Given the description of an element on the screen output the (x, y) to click on. 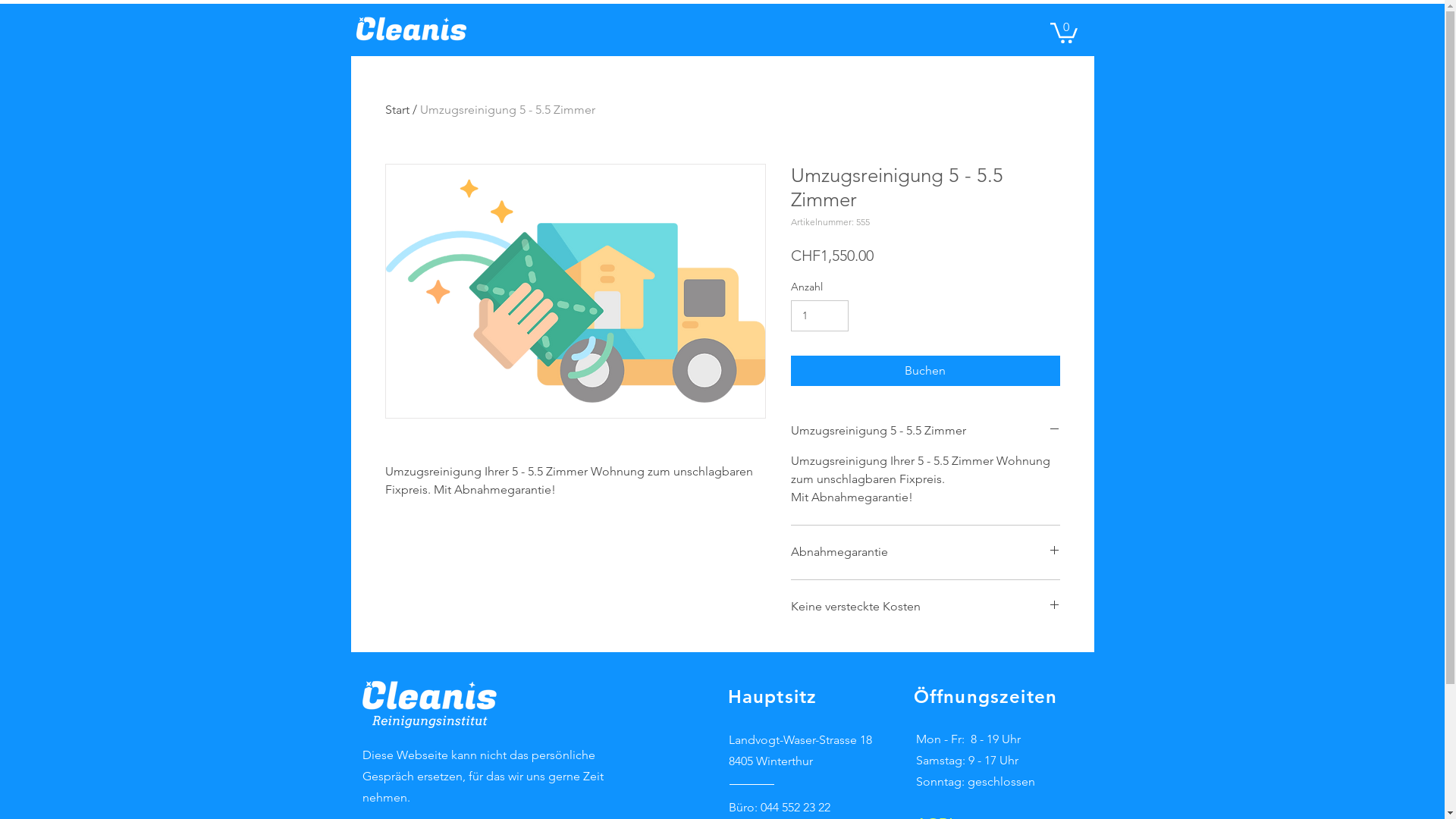
Umzugsreinigung 5 - 5.5 Zimmer Element type: text (507, 109)
Abnahmegarantie Element type: text (924, 551)
Start Element type: text (397, 109)
Umzugsreinigung 5 - 5.5 Zimmer Element type: text (924, 430)
Keine versteckte Kosten Element type: text (924, 606)
0 Element type: text (1062, 31)
Buchen Element type: text (924, 370)
